Given the description of an element on the screen output the (x, y) to click on. 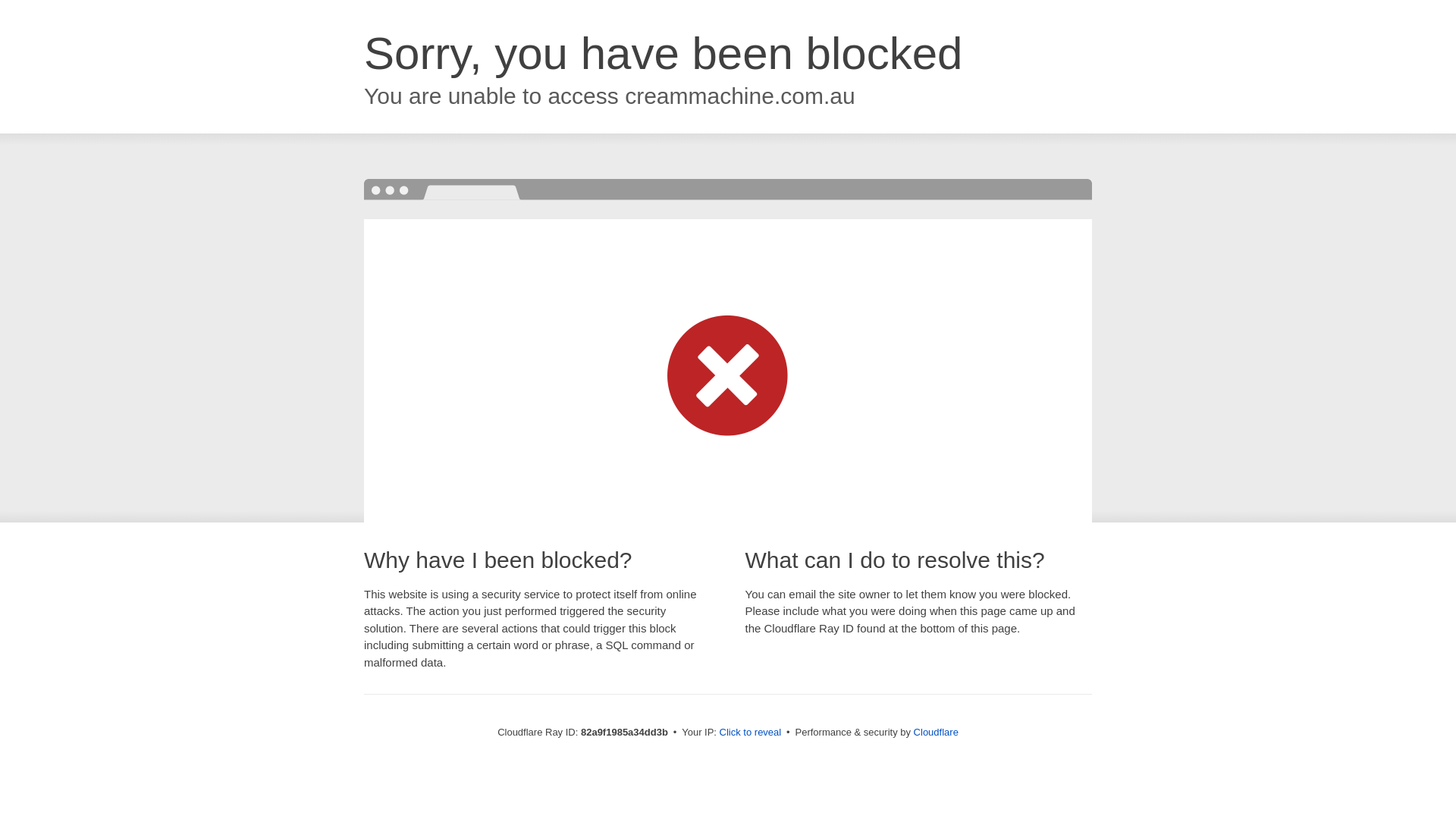
Click to reveal Element type: text (750, 732)
Cloudflare Element type: text (935, 731)
